Given the description of an element on the screen output the (x, y) to click on. 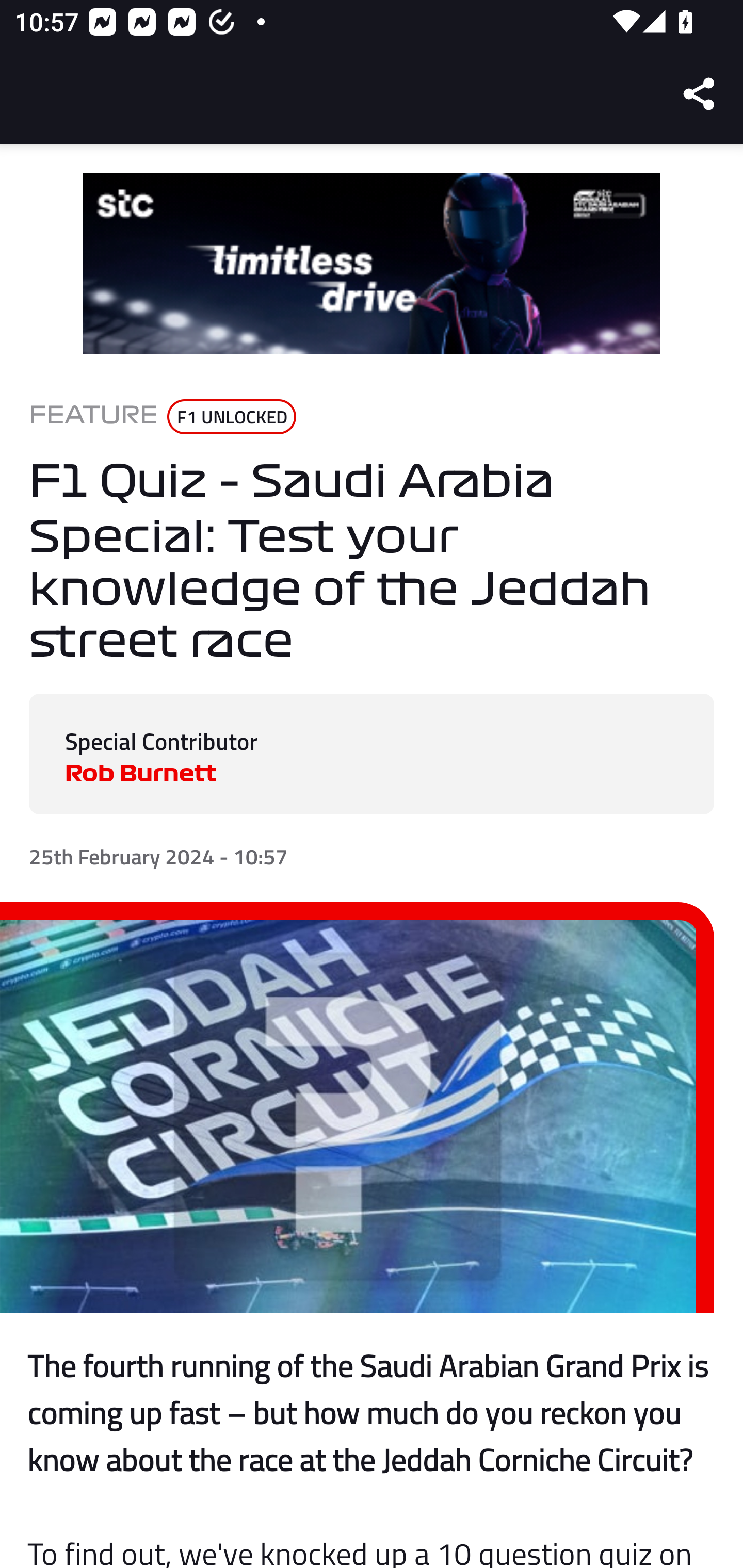
Share (699, 93)
who-we-are (371, 264)
